Given the description of an element on the screen output the (x, y) to click on. 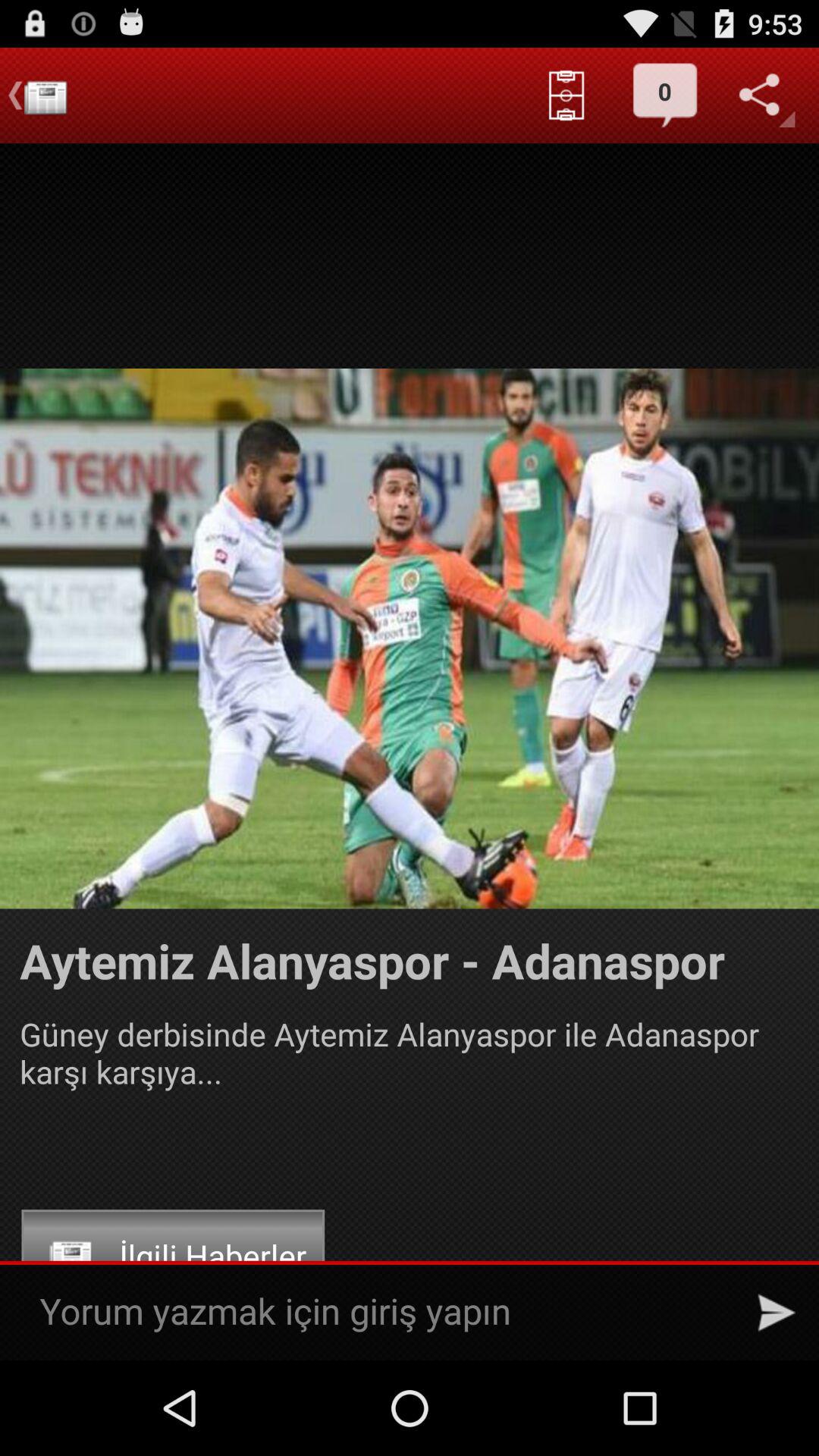
open the item at the bottom left corner (172, 1255)
